Given the description of an element on the screen output the (x, y) to click on. 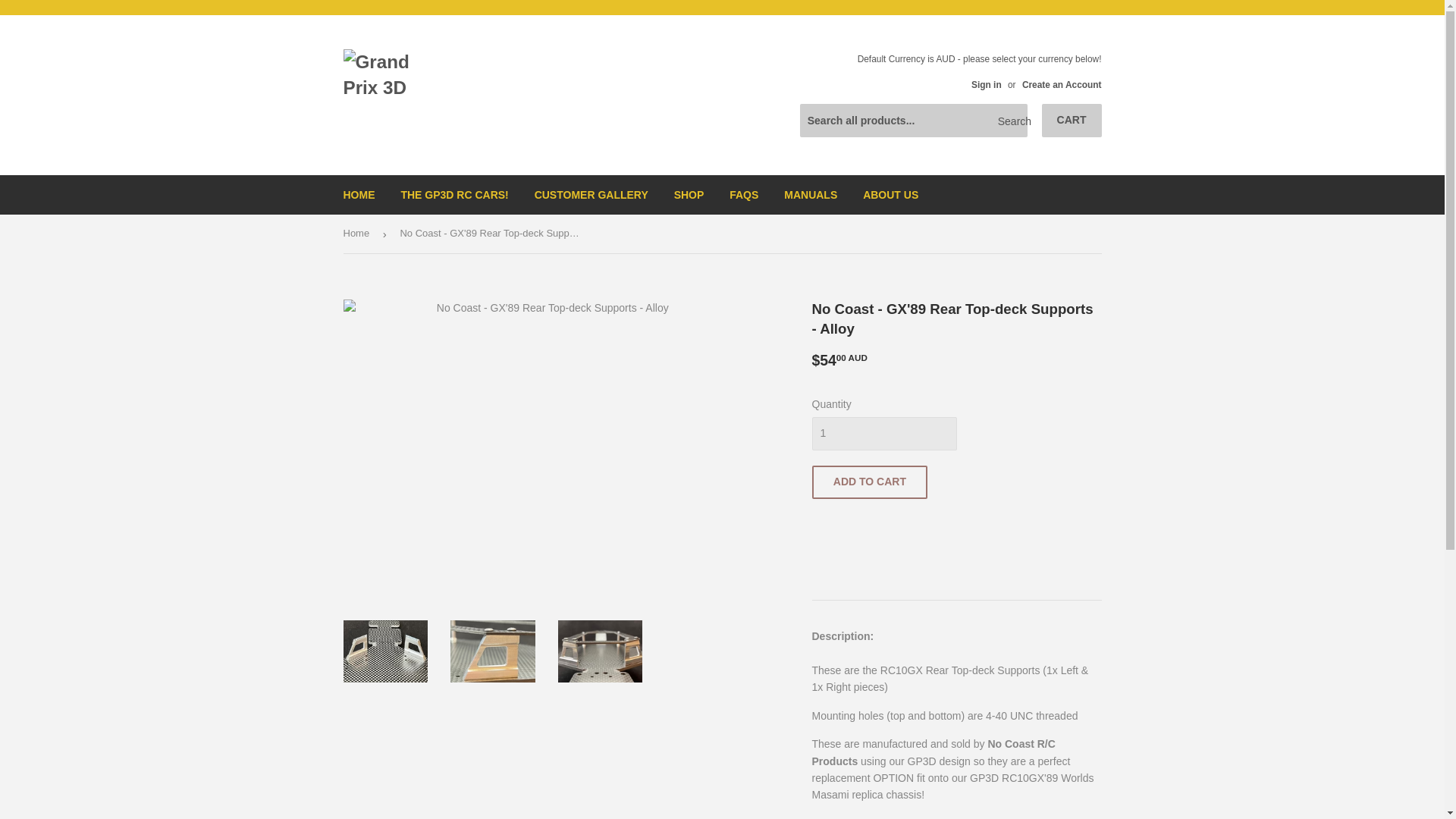
HOME (359, 194)
1 (883, 433)
Search (1009, 121)
CART (1072, 120)
Sign in (986, 84)
THE GP3D RC CARS! (453, 194)
Create an Account (1062, 84)
